Given the description of an element on the screen output the (x, y) to click on. 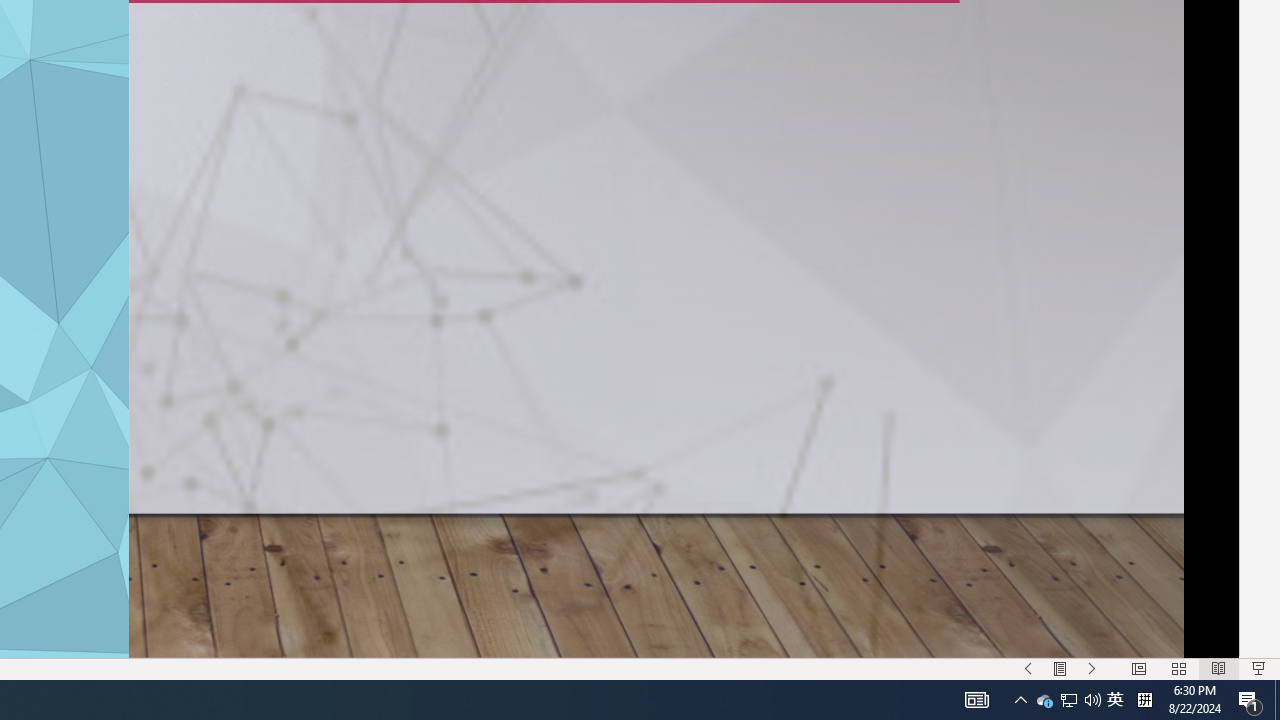
Slide Show Previous On (1028, 668)
Menu On (1060, 668)
Slide Show Next On (1092, 668)
